Given the description of an element on the screen output the (x, y) to click on. 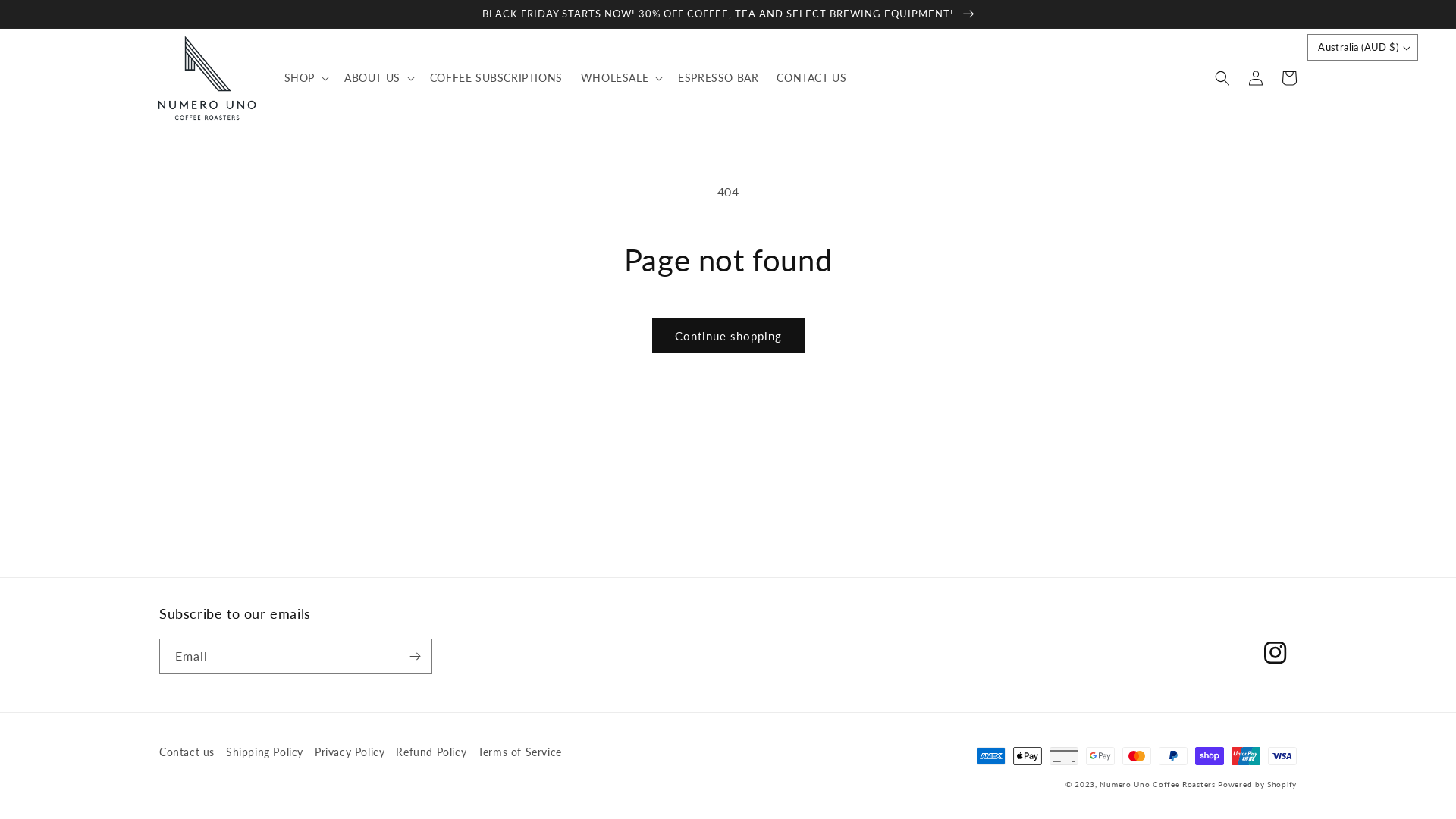
Shipping Policy Element type: text (264, 751)
Log in Element type: text (1255, 77)
Continue shopping Element type: text (728, 335)
Contact us Element type: text (186, 753)
Cart Element type: text (1288, 77)
Instagram Element type: text (1275, 652)
Numero Uno Coffee Roasters Element type: text (1156, 783)
COFFEE SUBSCRIPTIONS Element type: text (495, 78)
CONTACT US Element type: text (811, 78)
Refund Policy Element type: text (430, 751)
Powered by Shopify Element type: text (1256, 783)
Terms of Service Element type: text (519, 751)
Privacy Policy Element type: text (349, 751)
Australia (AUD $) Element type: text (1362, 47)
ESPRESSO BAR Element type: text (717, 78)
